Given the description of an element on the screen output the (x, y) to click on. 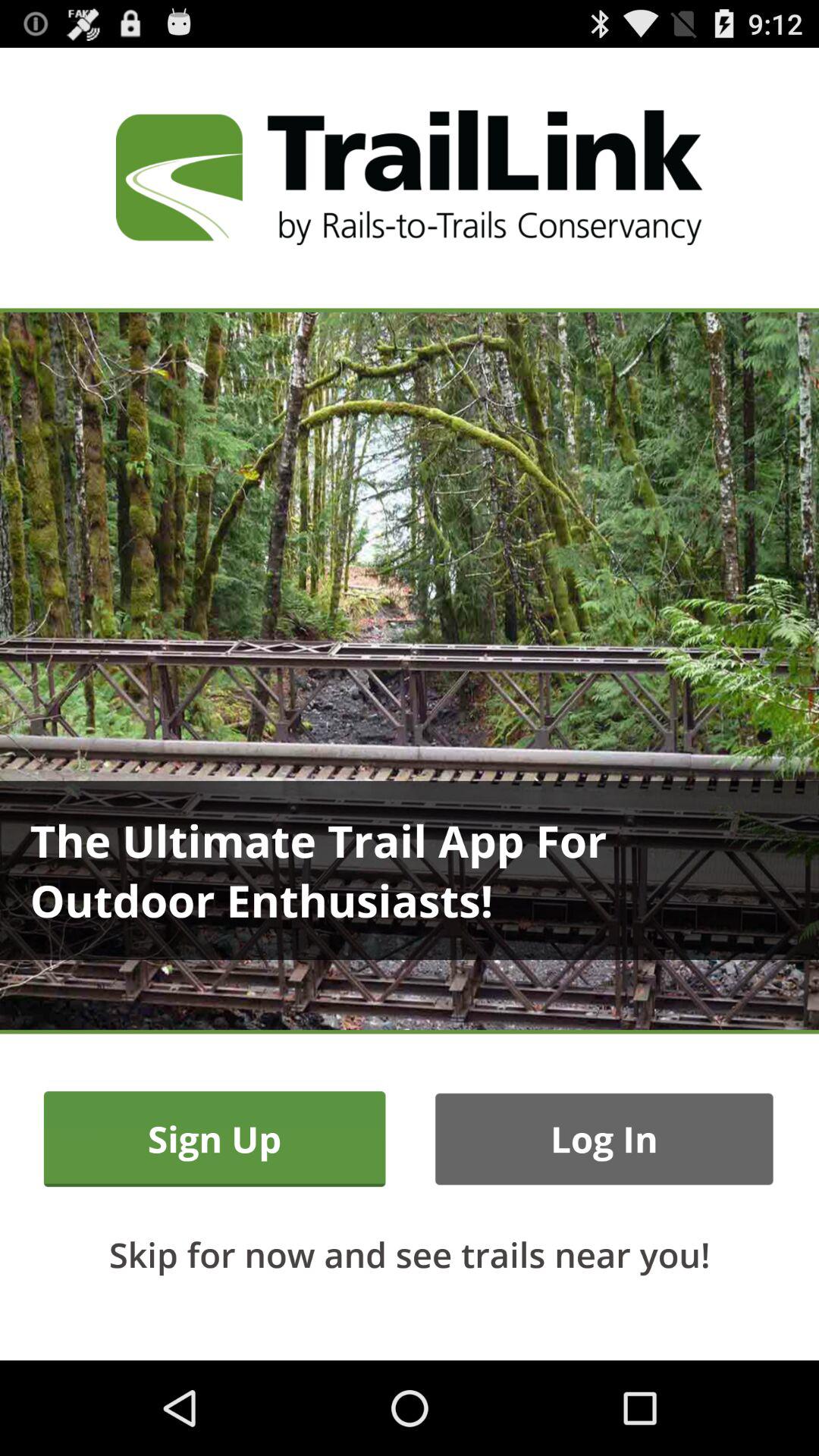
click icon to the right of the sign up item (604, 1138)
